Given the description of an element on the screen output the (x, y) to click on. 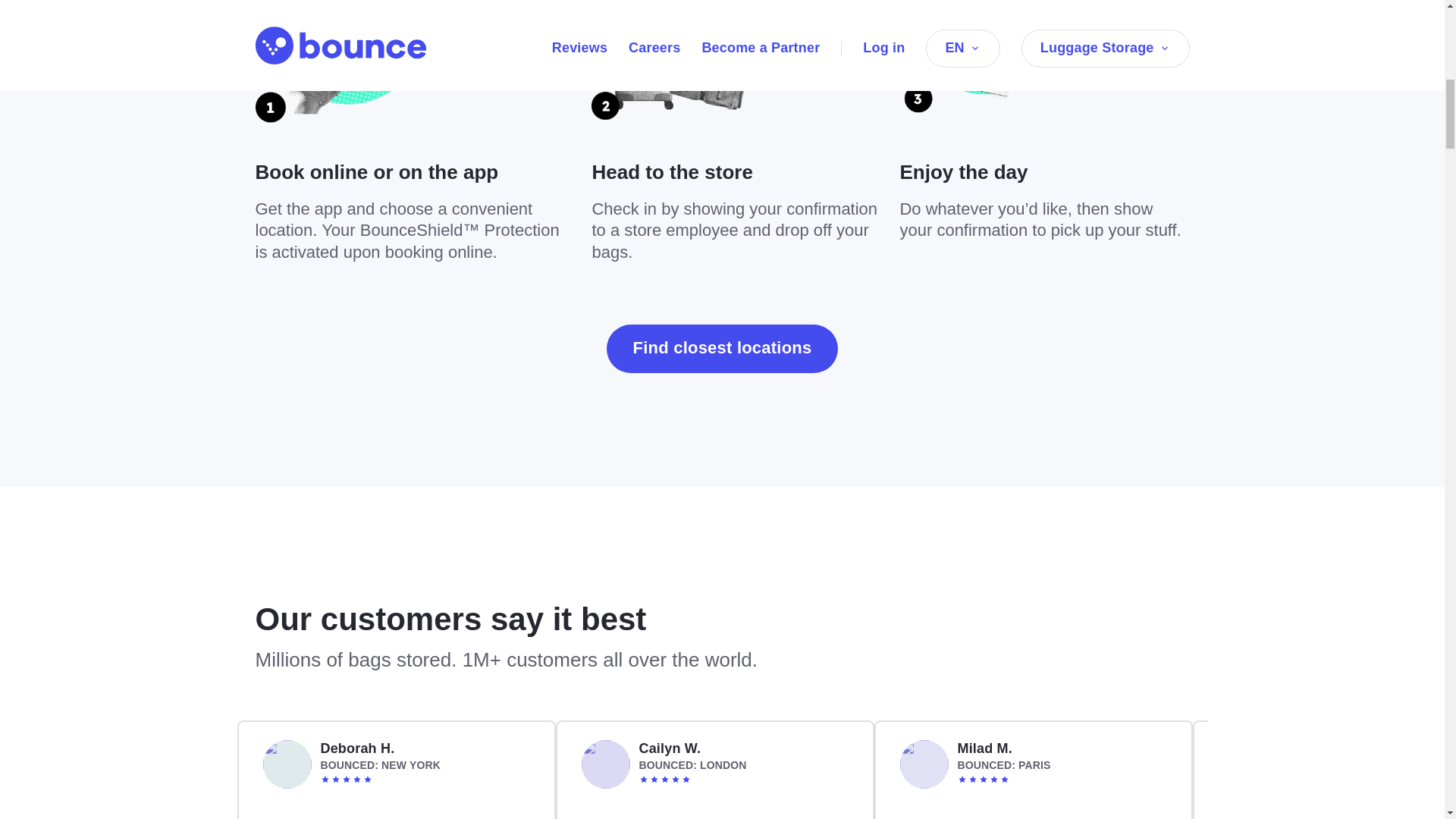
Find closest locations (722, 348)
